Given the description of an element on the screen output the (x, y) to click on. 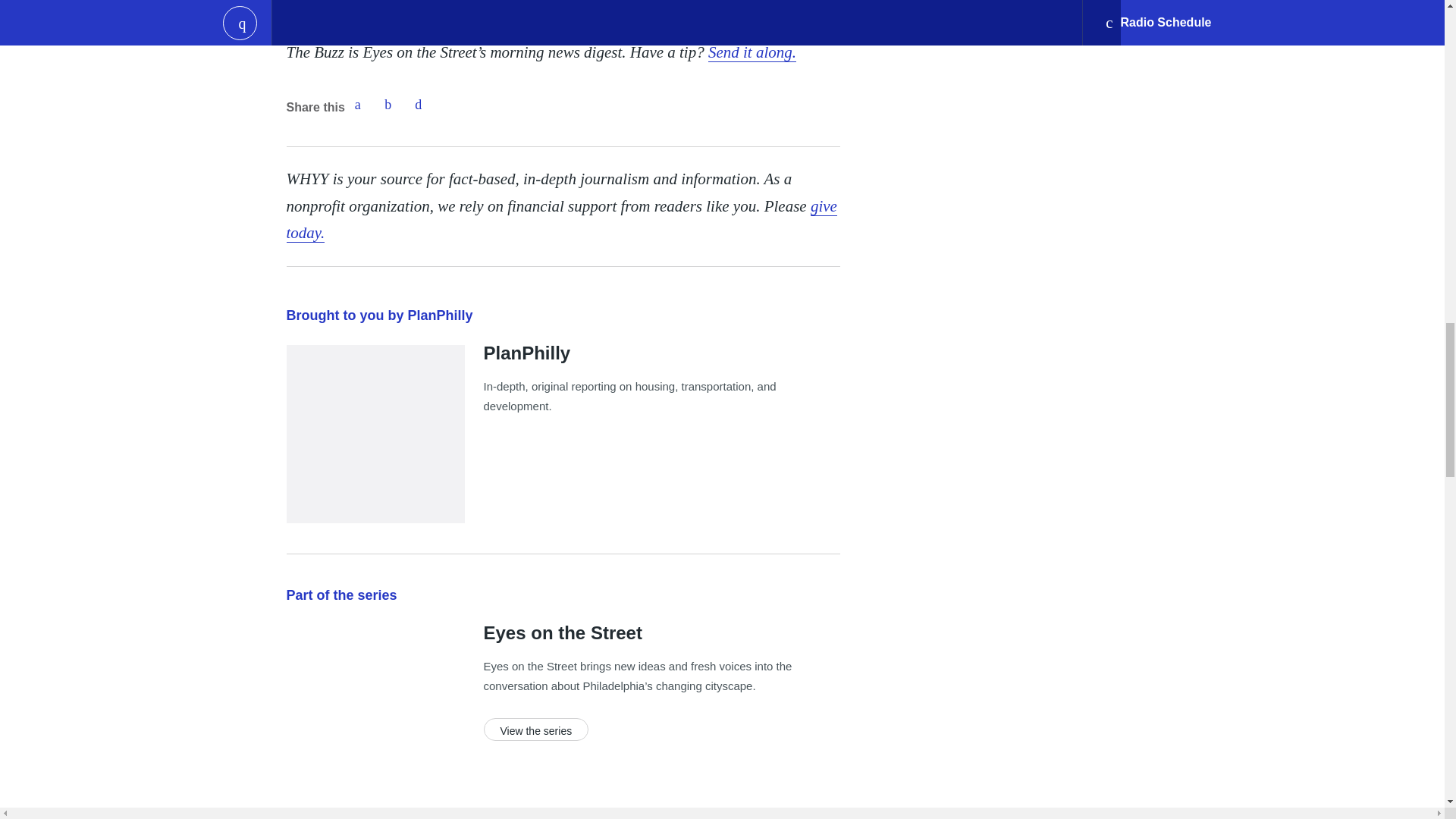
Facebook (357, 104)
Email (418, 104)
Twitter (387, 104)
